Given the description of an element on the screen output the (x, y) to click on. 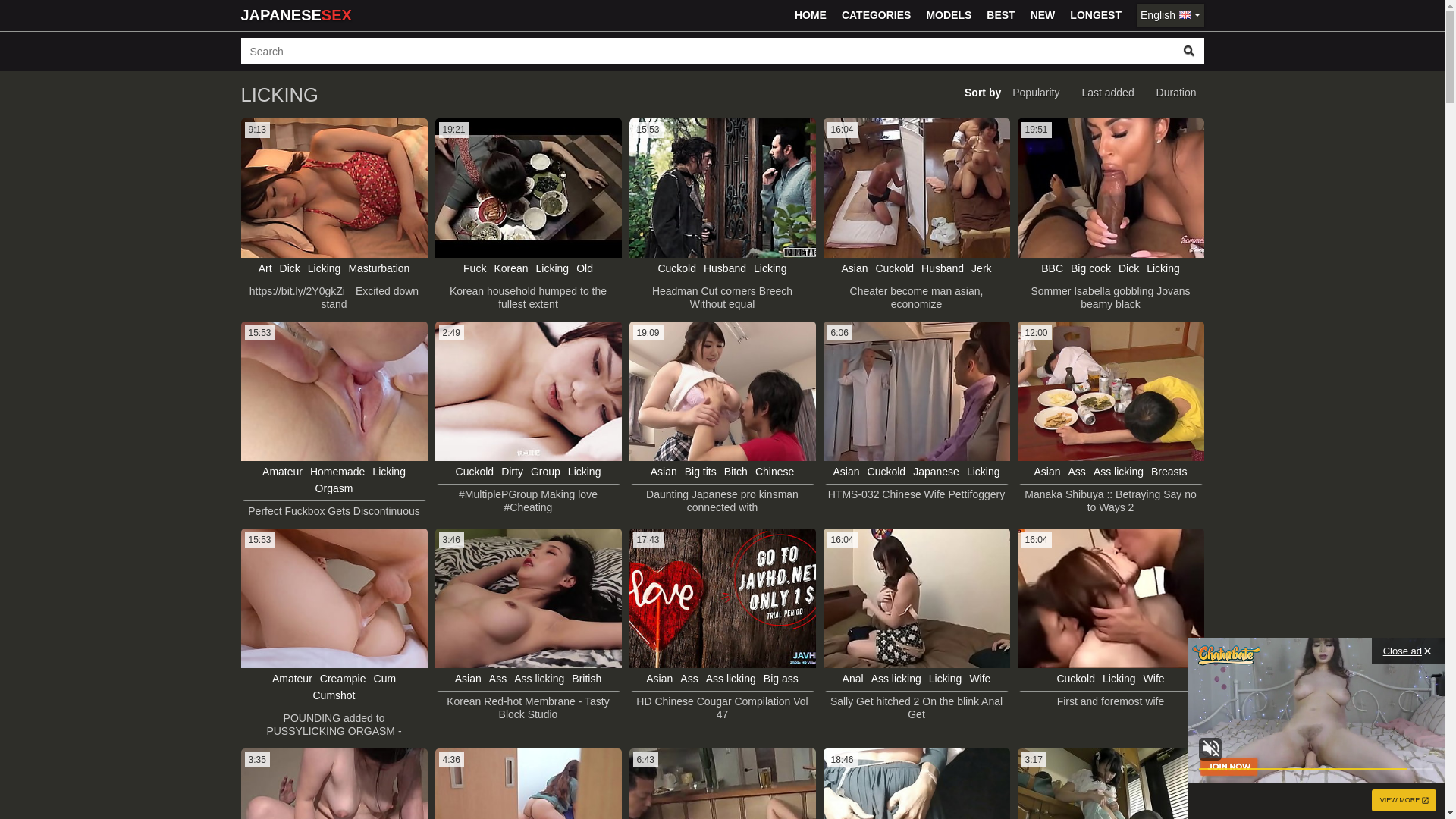
Husband Element type: text (942, 268)
Daunting Japanese pro kinsman connected with Element type: text (721, 501)
NEW Element type: text (1042, 15)
Cum Element type: text (384, 678)
Masturbation Element type: text (378, 268)
Licking Element type: text (324, 268)
Husband Element type: text (724, 268)
Licking Element type: text (983, 471)
Search Element type: text (1188, 50)
Asian Element type: text (1047, 471)
Cheater become man asian, economize Element type: text (915, 297)
HOME Element type: text (810, 15)
Cuckold Element type: text (474, 471)
Old Element type: text (584, 268)
Last added Element type: text (1107, 92)
LONGEST Element type: text (1095, 15)
Licking Element type: text (552, 268)
Dick Element type: text (1128, 268)
POUNDING added to PUSSYLICKING ORGASM - Element type: text (333, 724)
Asian Element type: text (468, 678)
Licking Element type: text (945, 678)
Cumshot Element type: text (333, 694)
Ass licking Element type: text (1118, 471)
Headman Cut corners Breech Without equal Element type: text (721, 297)
Big cock Element type: text (1090, 268)
Korean household humped to the fullest extent Element type: text (527, 297)
Korean Red-hot Membrane - Tasty Block Studio Element type: text (527, 708)
English Element type: text (1169, 15)
Chinese Element type: text (774, 471)
Licking Element type: text (388, 471)
Ass Element type: text (497, 678)
Cuckold Element type: text (676, 268)
Duration Element type: text (1176, 92)
Licking Element type: text (584, 471)
Cuckold Element type: text (886, 471)
Manaka Shibuya :: Betraying Say no to Ways 2 Element type: text (1109, 501)
CATEGORIES Element type: text (876, 15)
Ass Element type: text (1076, 471)
Licking Element type: text (770, 268)
First and foremost wife Element type: text (1110, 701)
Creampie Element type: text (343, 678)
Bitch Element type: text (735, 471)
Asian Element type: text (663, 471)
Ass licking Element type: text (539, 678)
Ass licking Element type: text (731, 678)
Big ass Element type: text (780, 678)
Amateur Element type: text (292, 678)
JAPANESESEX Element type: text (296, 15)
Fuck Element type: text (474, 268)
Ass licking Element type: text (896, 678)
Orgasm Element type: text (334, 487)
Dick Element type: text (289, 268)
Big tits Element type: text (700, 471)
Group Element type: text (545, 471)
Jerk Element type: text (981, 268)
HTMS-032 Chinese Wife Pettifoggery Element type: text (916, 494)
Cuckold Element type: text (1075, 678)
BEST Element type: text (1000, 15)
BBC Element type: text (1052, 268)
Art Element type: text (265, 268)
Licking Element type: text (1162, 268)
Cuckold Element type: text (894, 268)
Perfect Fuckbox Gets Discontinuous Element type: text (333, 511)
Amateur Element type: text (282, 471)
Japanese Element type: text (936, 471)
MODELS Element type: text (948, 15)
Asian Element type: text (846, 471)
#MultiplePGroup Making love #Cheating Element type: text (527, 501)
For searching please use latin letters Element type: hover (707, 50)
Dirty Element type: text (512, 471)
Sommer Isabella gobbling Jovans beamy black Element type: text (1109, 297)
Sally Get hitched 2 On the blink Anal Get Element type: text (915, 708)
Korean Element type: text (510, 268)
Breasts Element type: text (1168, 471)
HD Chinese Cougar Compilation Vol 47 Element type: text (721, 708)
Ass Element type: text (688, 678)
Asian Element type: text (853, 268)
Licking Element type: text (1118, 678)
British Element type: text (586, 678)
Wife Element type: text (1153, 678)
Homemade Element type: text (337, 471)
Popularity Element type: text (1035, 92)
Anal Element type: text (852, 678)
Wife Element type: text (979, 678)
Asian Element type: text (659, 678)
